Given the description of an element on the screen output the (x, y) to click on. 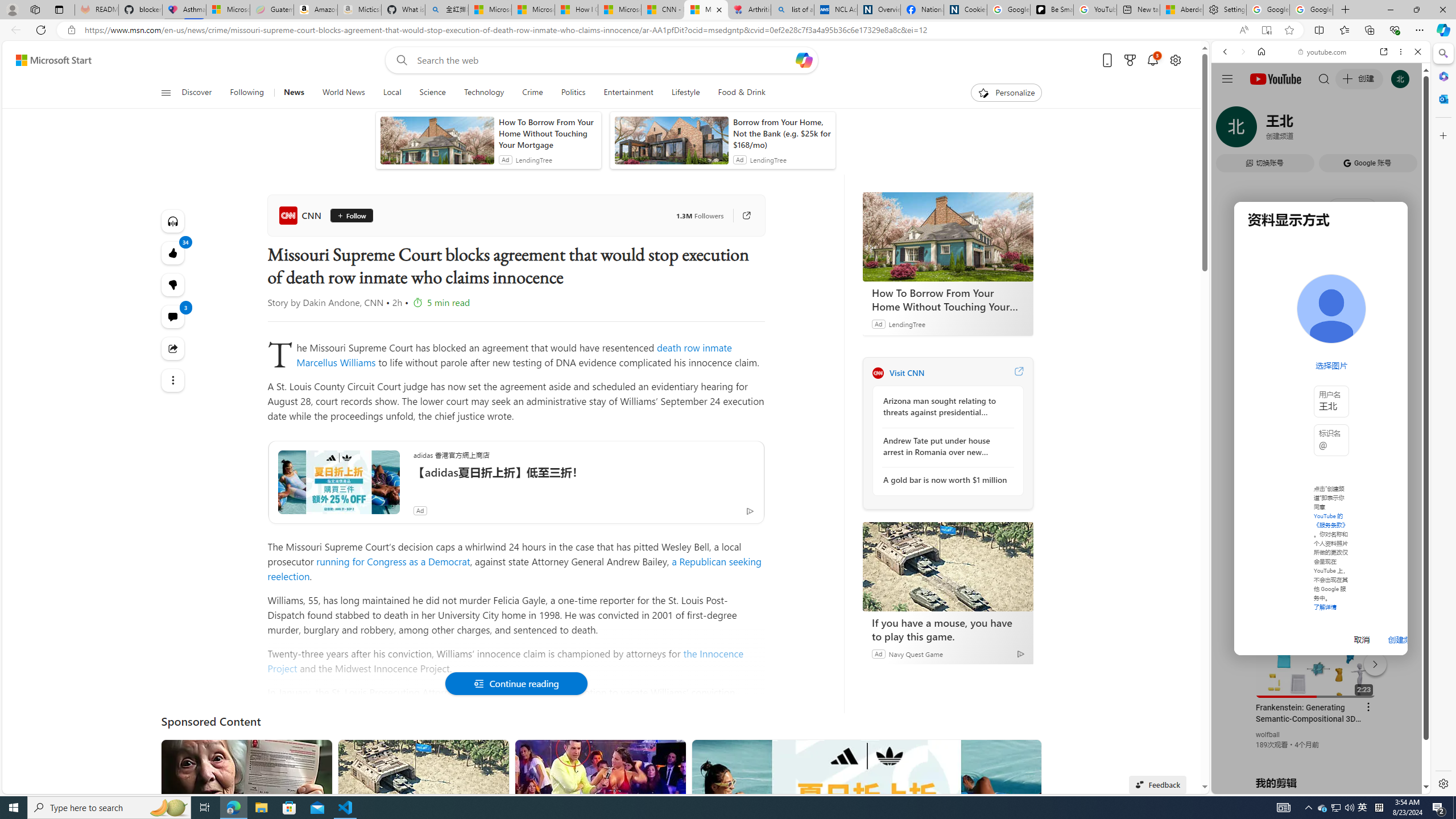
Music (1320, 309)
anim-content (671, 144)
